Given the description of an element on the screen output the (x, y) to click on. 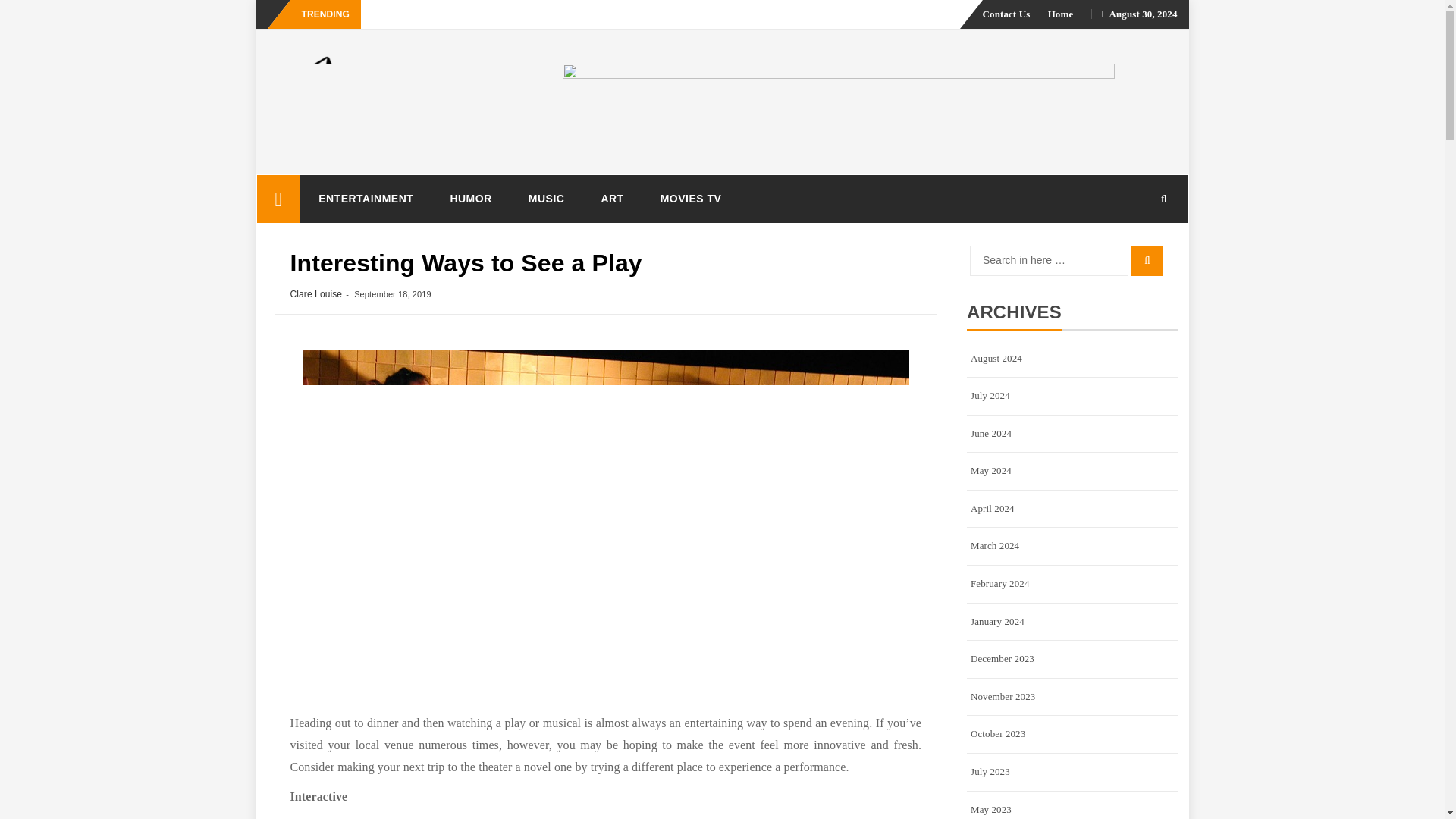
Home (1061, 13)
Search for: (1048, 260)
Contact Us (1006, 13)
Search (1147, 260)
smc-entertainment.com (277, 198)
August 2024 (1071, 358)
MUSIC (547, 198)
Search (1147, 260)
